Given the description of an element on the screen output the (x, y) to click on. 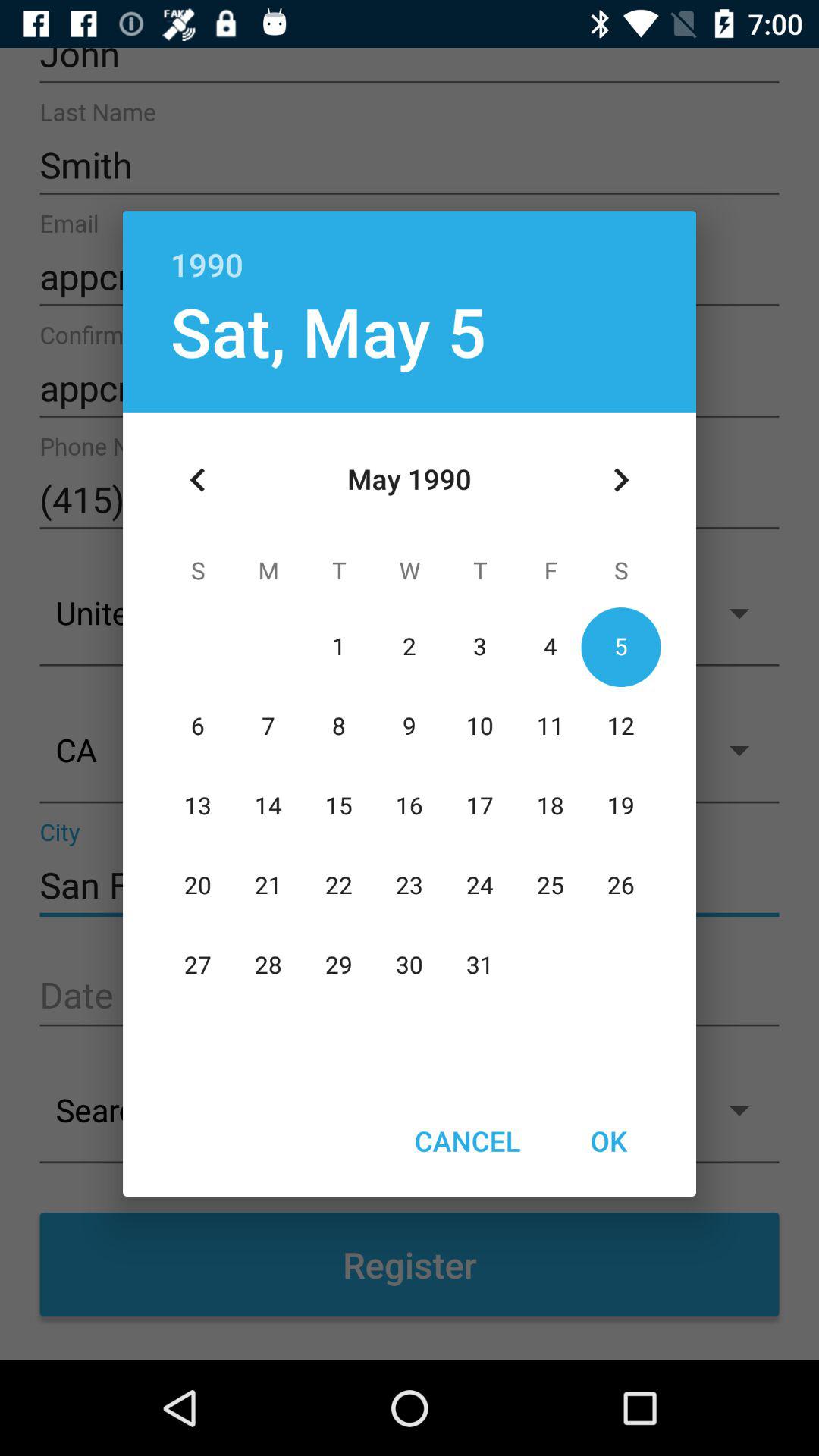
press icon to the left of ok item (467, 1140)
